Given the description of an element on the screen output the (x, y) to click on. 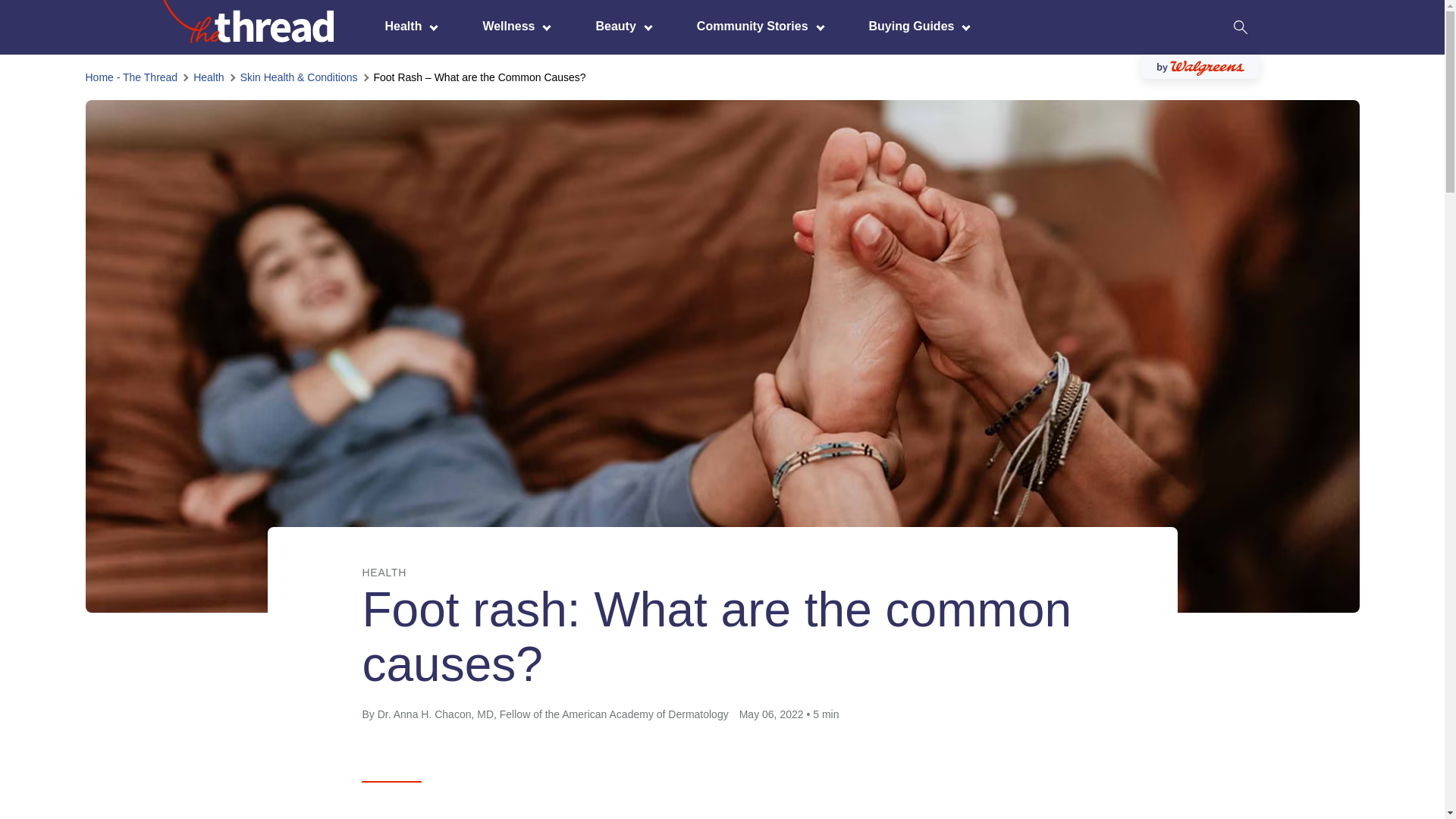
Wellness (512, 25)
Health (407, 25)
Beauty (619, 25)
Community Stories (756, 25)
